Given the description of an element on the screen output the (x, y) to click on. 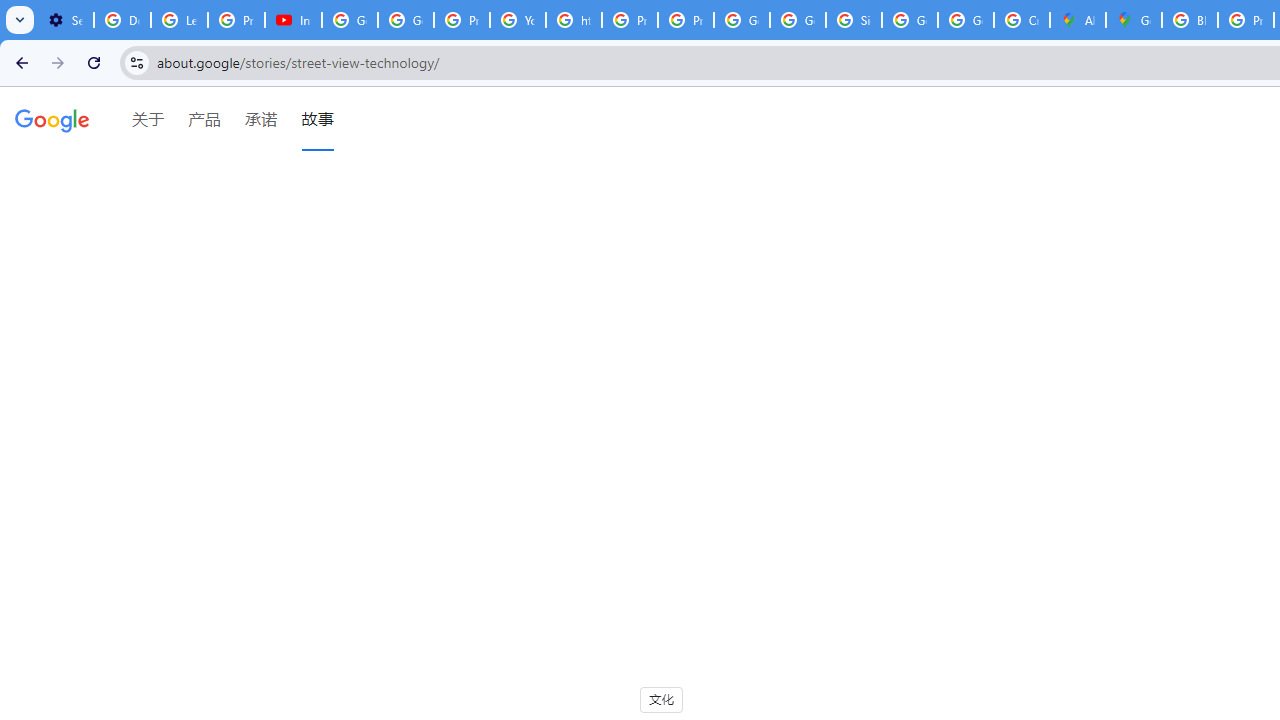
Settings - Customize profile (65, 20)
Delete photos & videos - Computer - Google Photos Help (122, 20)
Sign in - Google Accounts (853, 20)
Google Account Help (349, 20)
Google Account Help (405, 20)
YouTube (518, 20)
Google (52, 124)
https://scholar.google.com/ (573, 20)
